Given the description of an element on the screen output the (x, y) to click on. 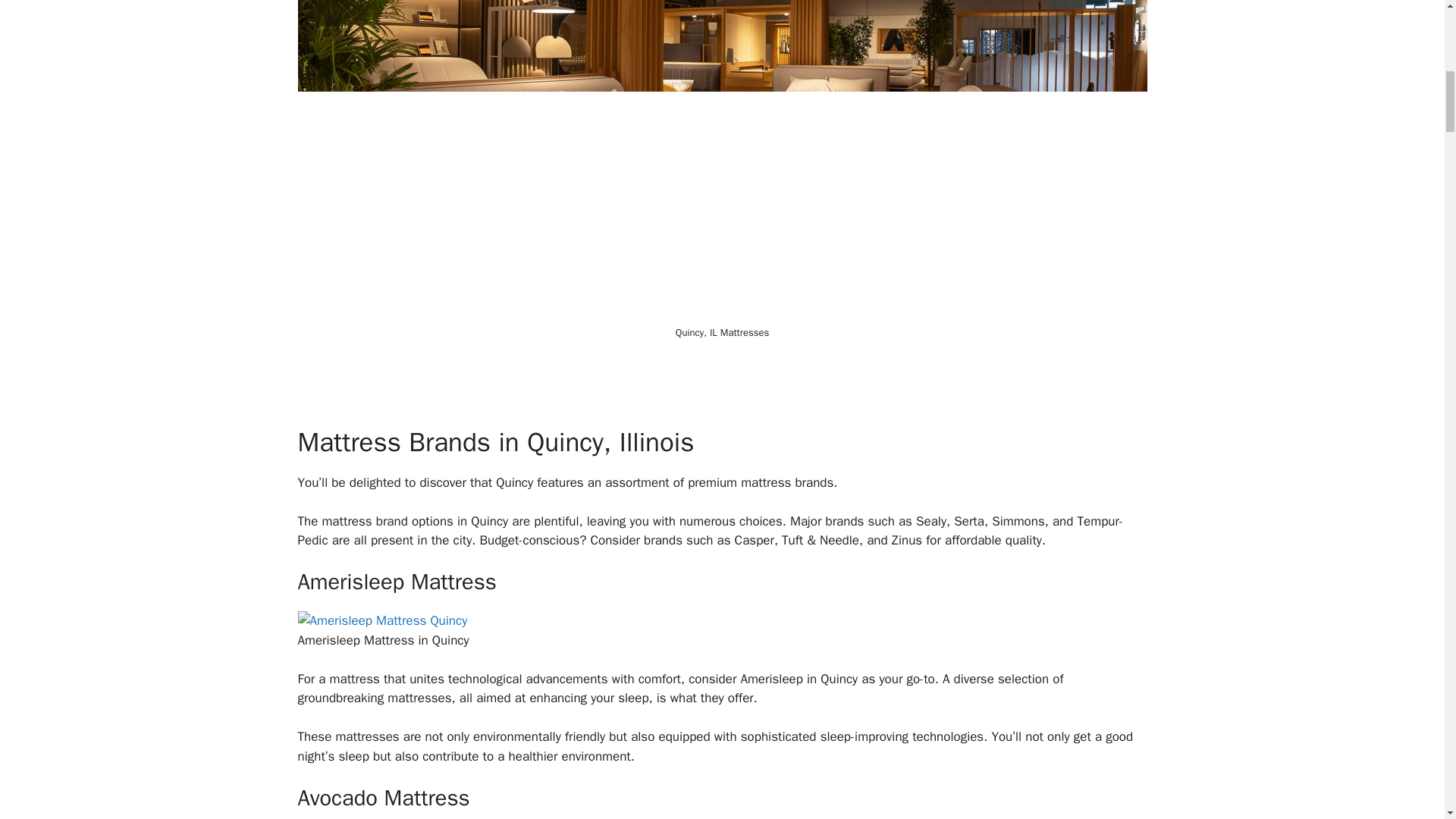
Amerisleep Mattress Quincy (382, 620)
